Given the description of an element on the screen output the (x, y) to click on. 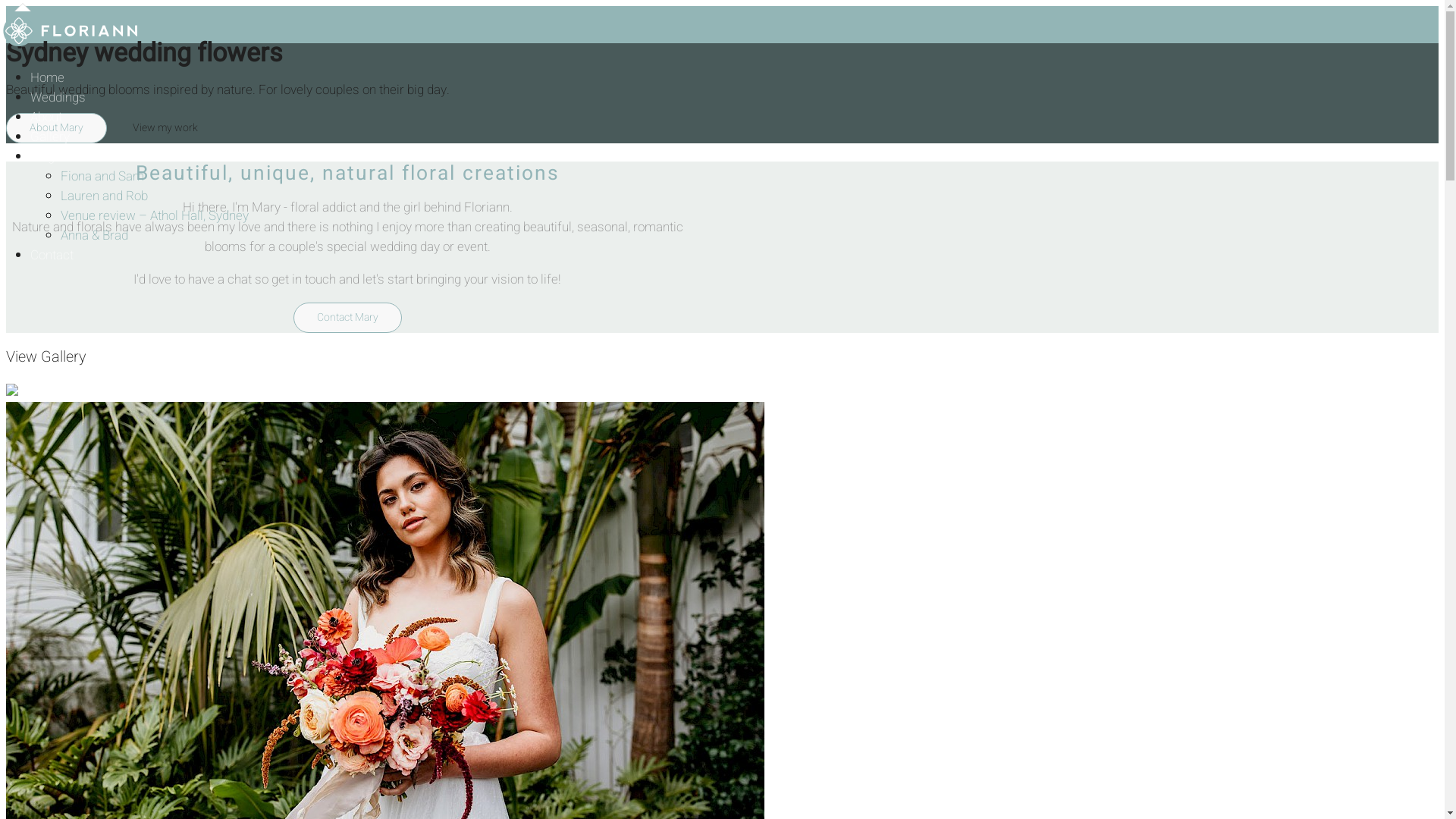
Contact Element type: text (51, 254)
Contact Mary Element type: text (346, 317)
About Mary Element type: text (56, 127)
Logo Element type: hover (72, 44)
Gallery Element type: text (49, 136)
View my work Element type: text (164, 127)
About Element type: text (46, 116)
Weddings Element type: text (57, 96)
Anna & Brad Element type: text (94, 234)
Blog Element type: text (42, 156)
Lauren and Rob Element type: text (103, 195)
Fiona and Sam Element type: text (102, 175)
Home Element type: text (47, 77)
